Given the description of an element on the screen output the (x, y) to click on. 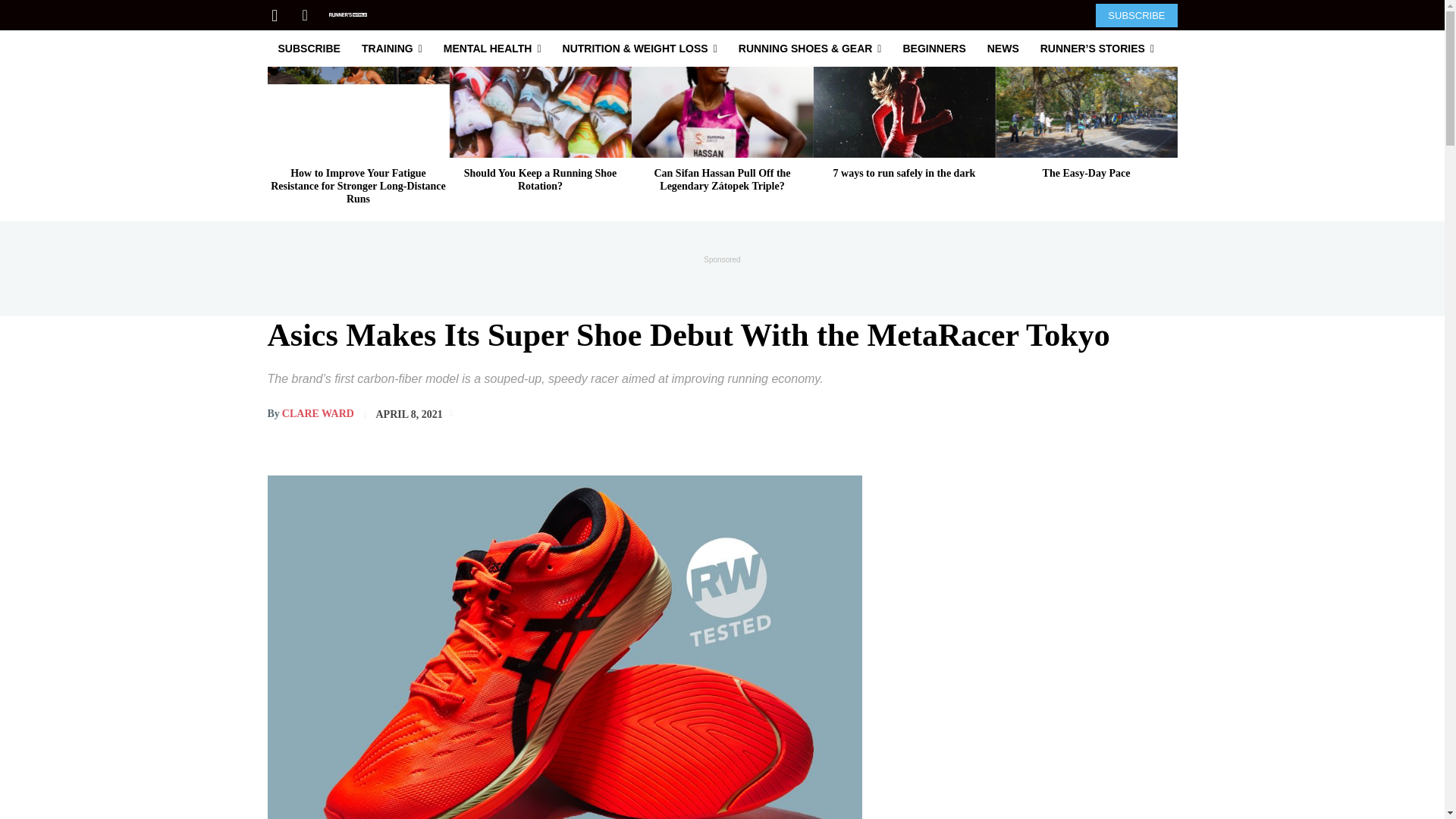
SUBSCRIBE (1136, 14)
